Given the description of an element on the screen output the (x, y) to click on. 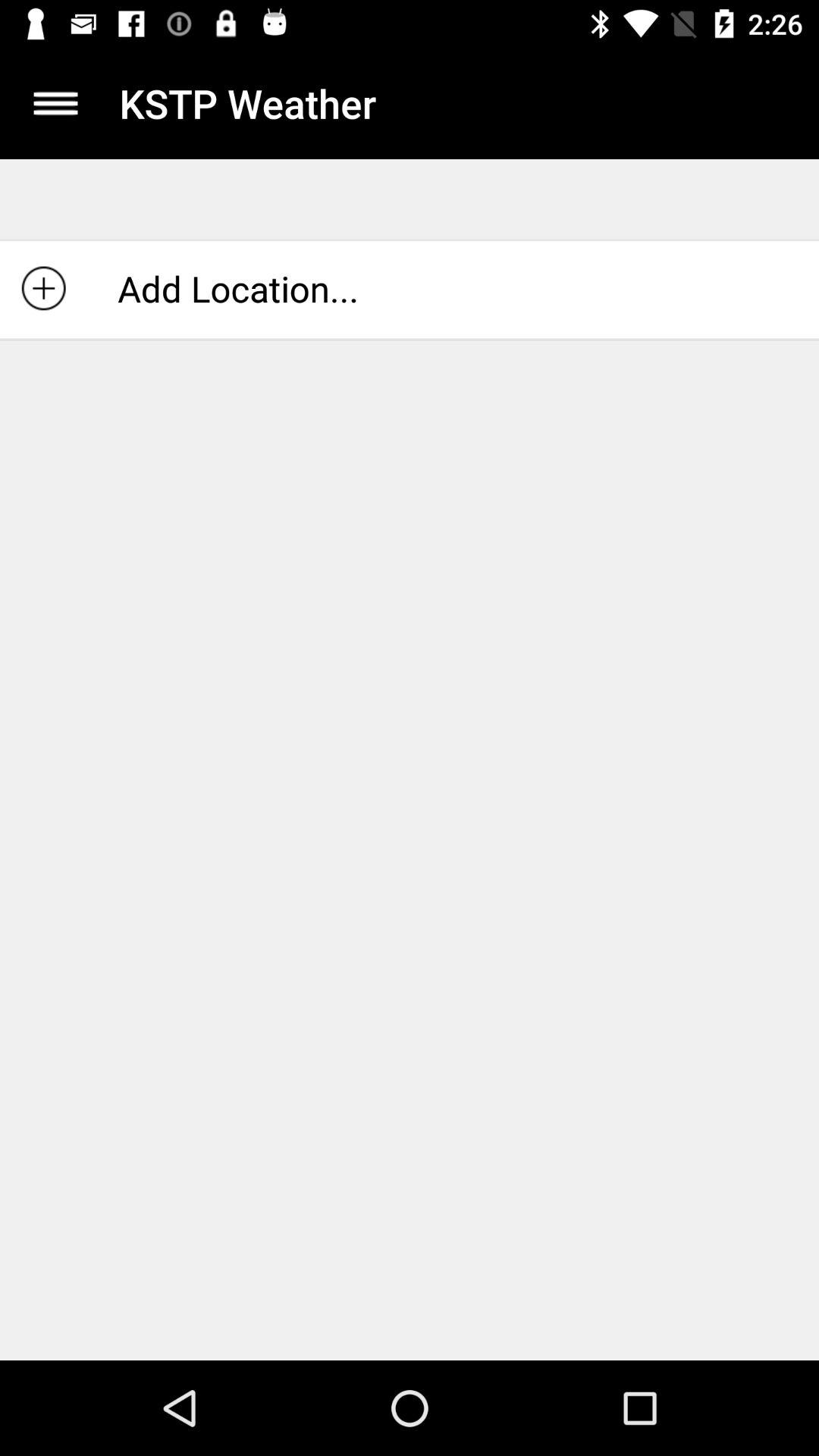
turn on the app next to kstp weather app (55, 103)
